Given the description of an element on the screen output the (x, y) to click on. 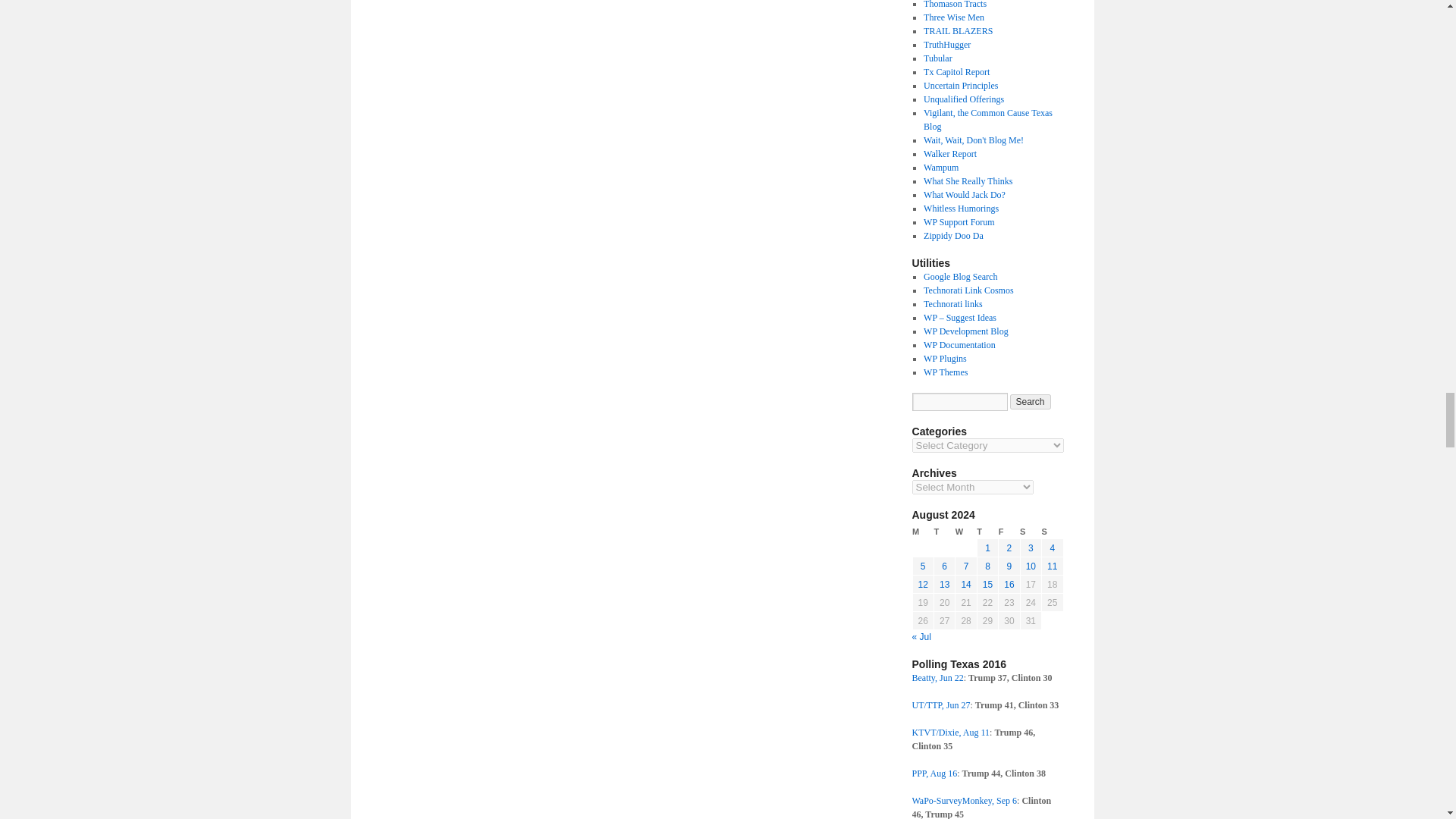
Search (1030, 401)
Wednesday (965, 531)
Monday (922, 531)
Tuesday (944, 531)
